Given the description of an element on the screen output the (x, y) to click on. 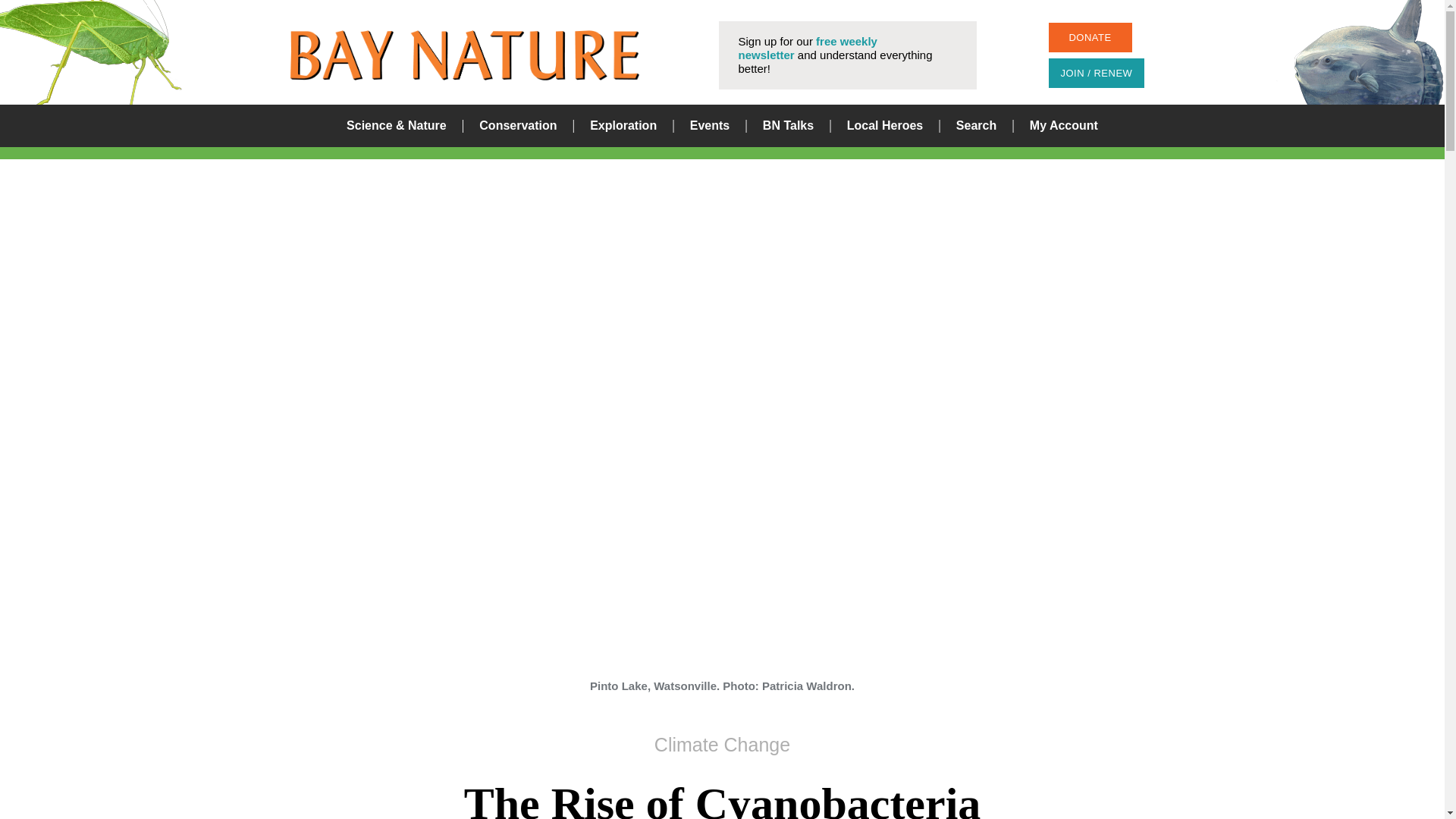
My Account (1063, 125)
Local Heroes (885, 125)
free weekly newsletter (807, 48)
Exploration (622, 125)
Events (709, 125)
BN Talks (787, 125)
Conservation (517, 125)
Search (975, 125)
DONATE (1089, 37)
Search (879, 409)
